Given the description of an element on the screen output the (x, y) to click on. 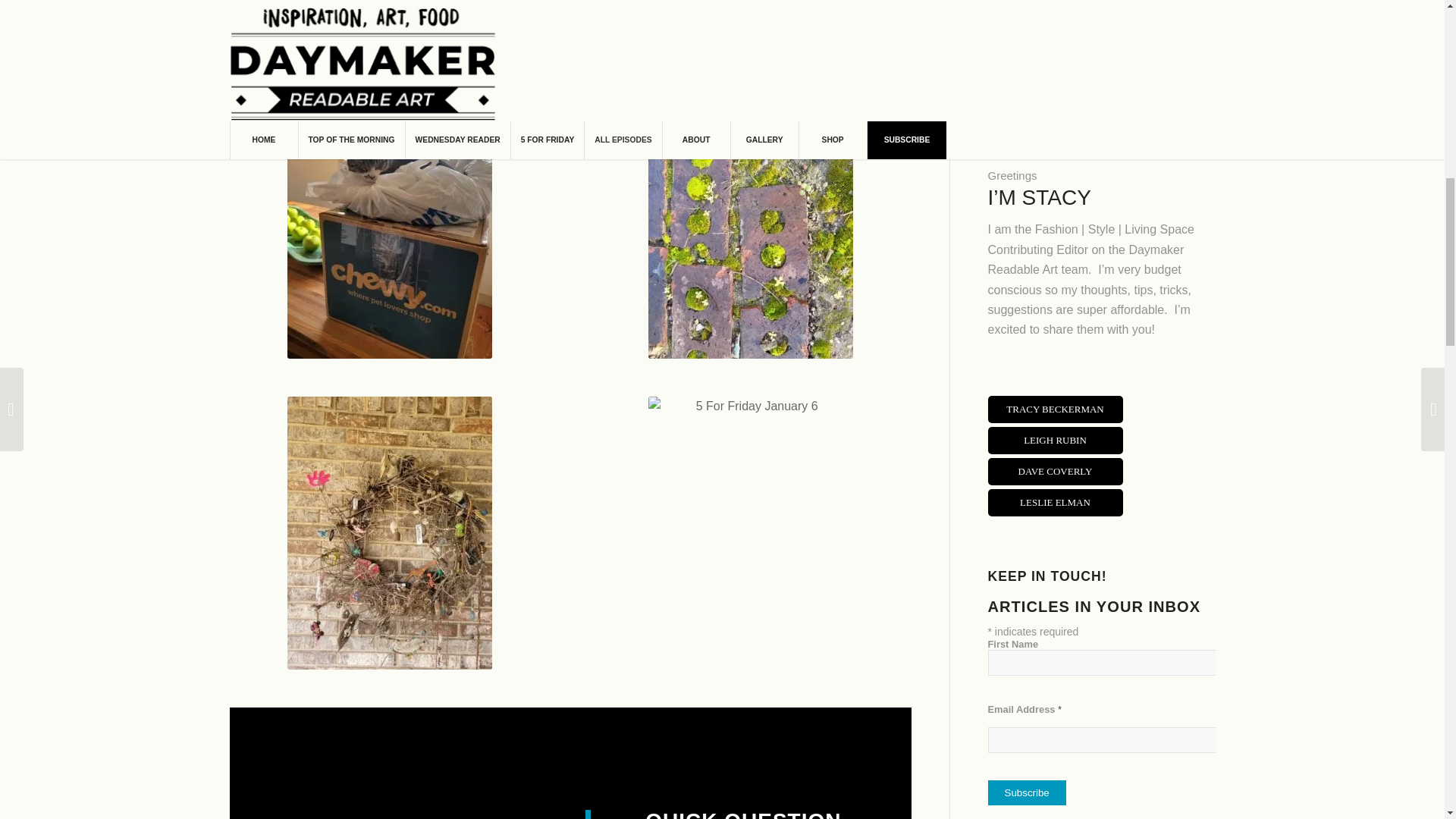
Subscribe (1026, 792)
Subscribe (1026, 792)
DAVE COVERLY (1054, 470)
LEIGH RUBIN (1054, 439)
DAVE COVERLY (1054, 471)
LEIGH RUBIN (1054, 440)
TRACY BECKERMAN (1054, 409)
LESLIE ELMAN (1054, 501)
LESLIE ELMAN (1054, 502)
TRACY BECKERMAN (1054, 408)
